Given the description of an element on the screen output the (x, y) to click on. 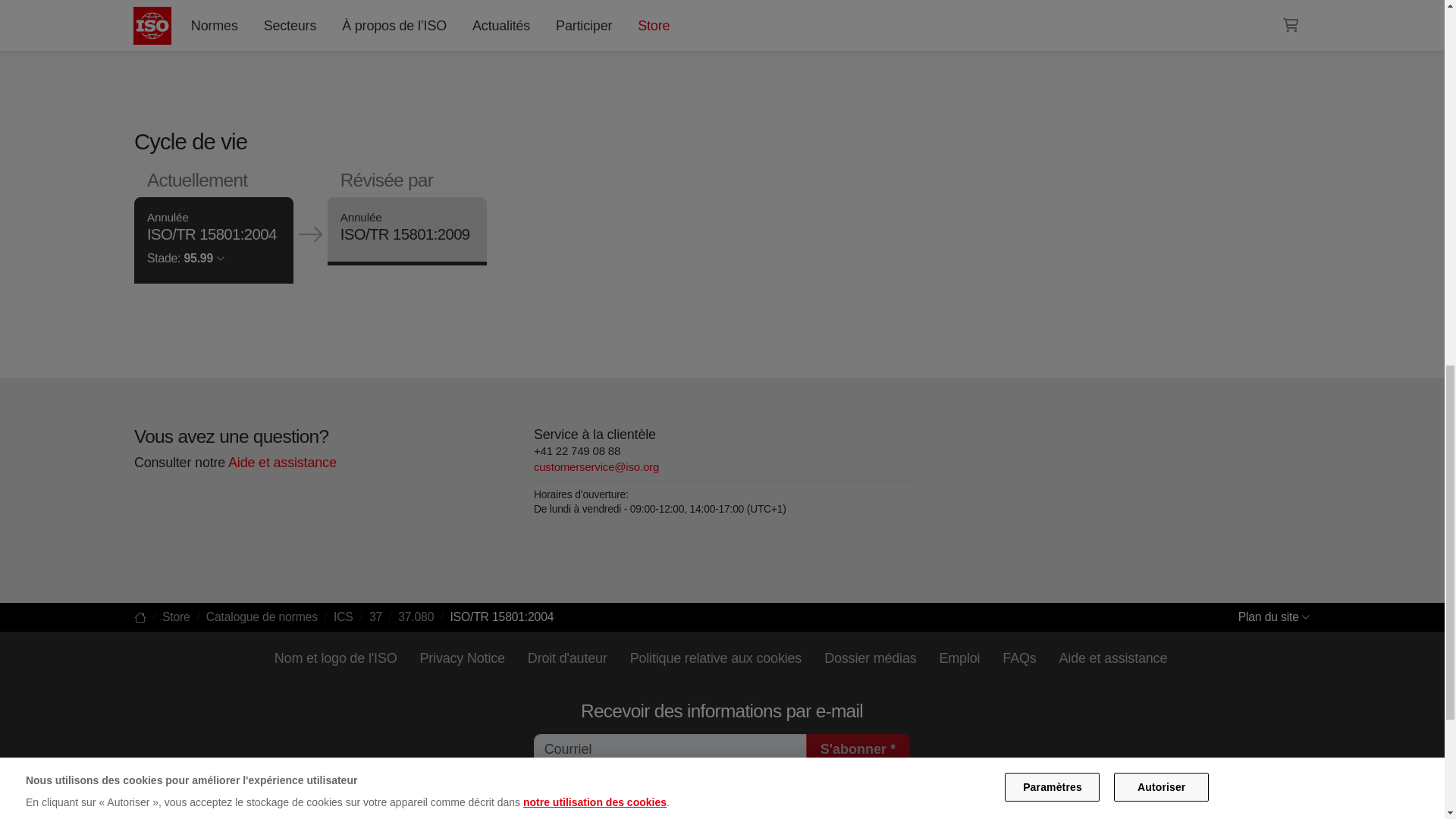
help-support (281, 462)
Stade: 95.99 (185, 257)
